Given the description of an element on the screen output the (x, y) to click on. 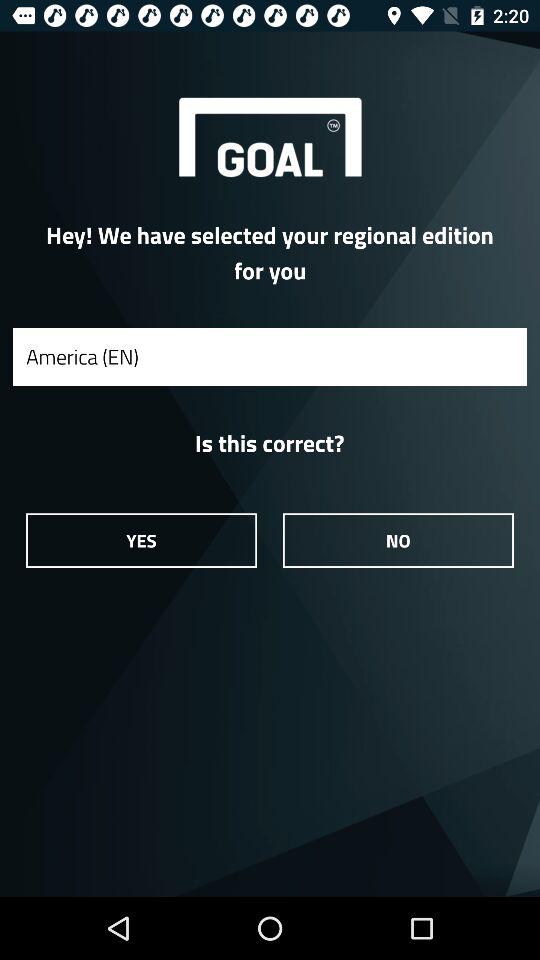
select item to the right of the yes (398, 540)
